Given the description of an element on the screen output the (x, y) to click on. 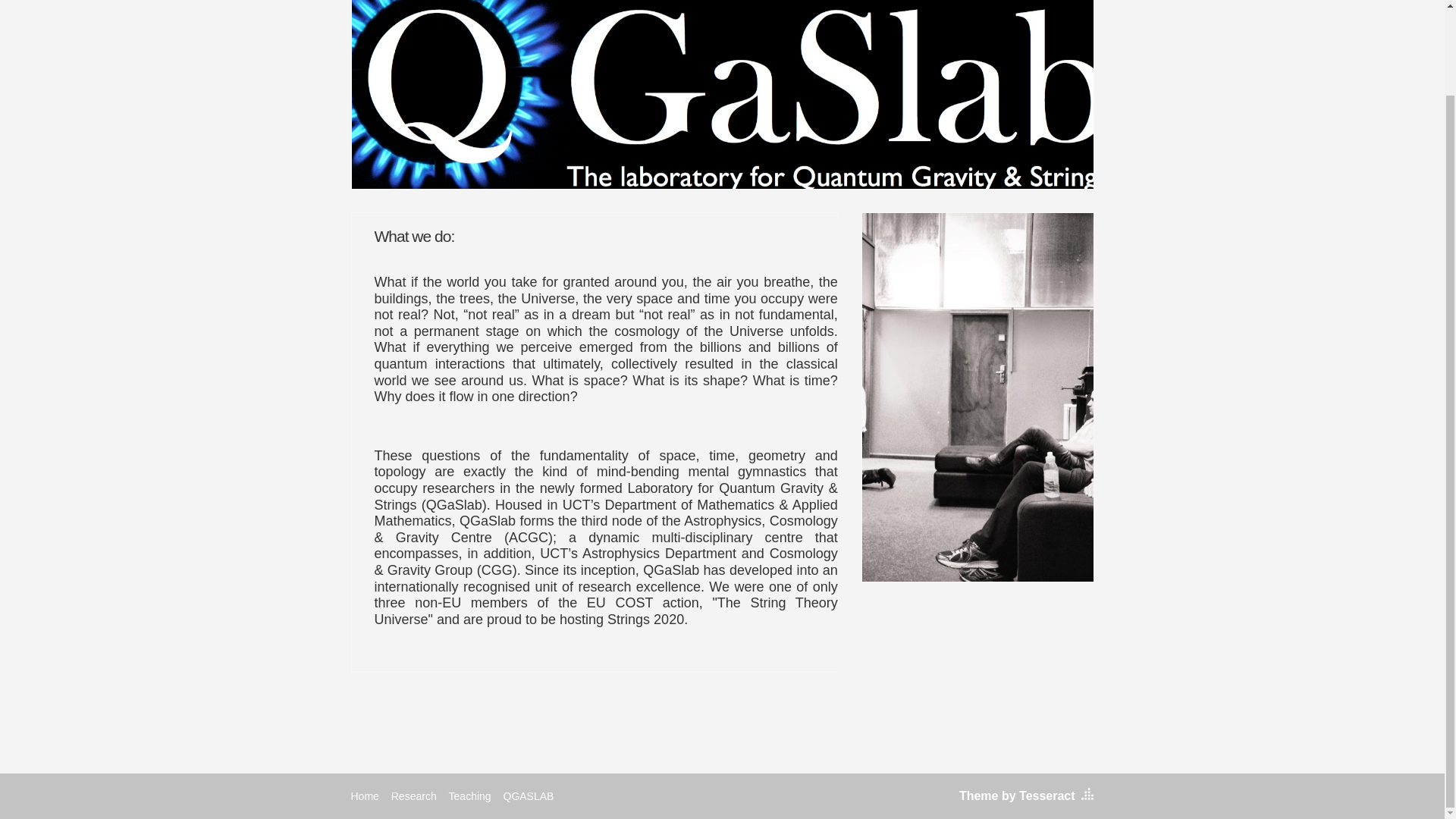
Home (364, 796)
Research (413, 796)
QGASLAB (528, 796)
Teaching (470, 796)
Theme by Tesseract (1017, 795)
